Given the description of an element on the screen output the (x, y) to click on. 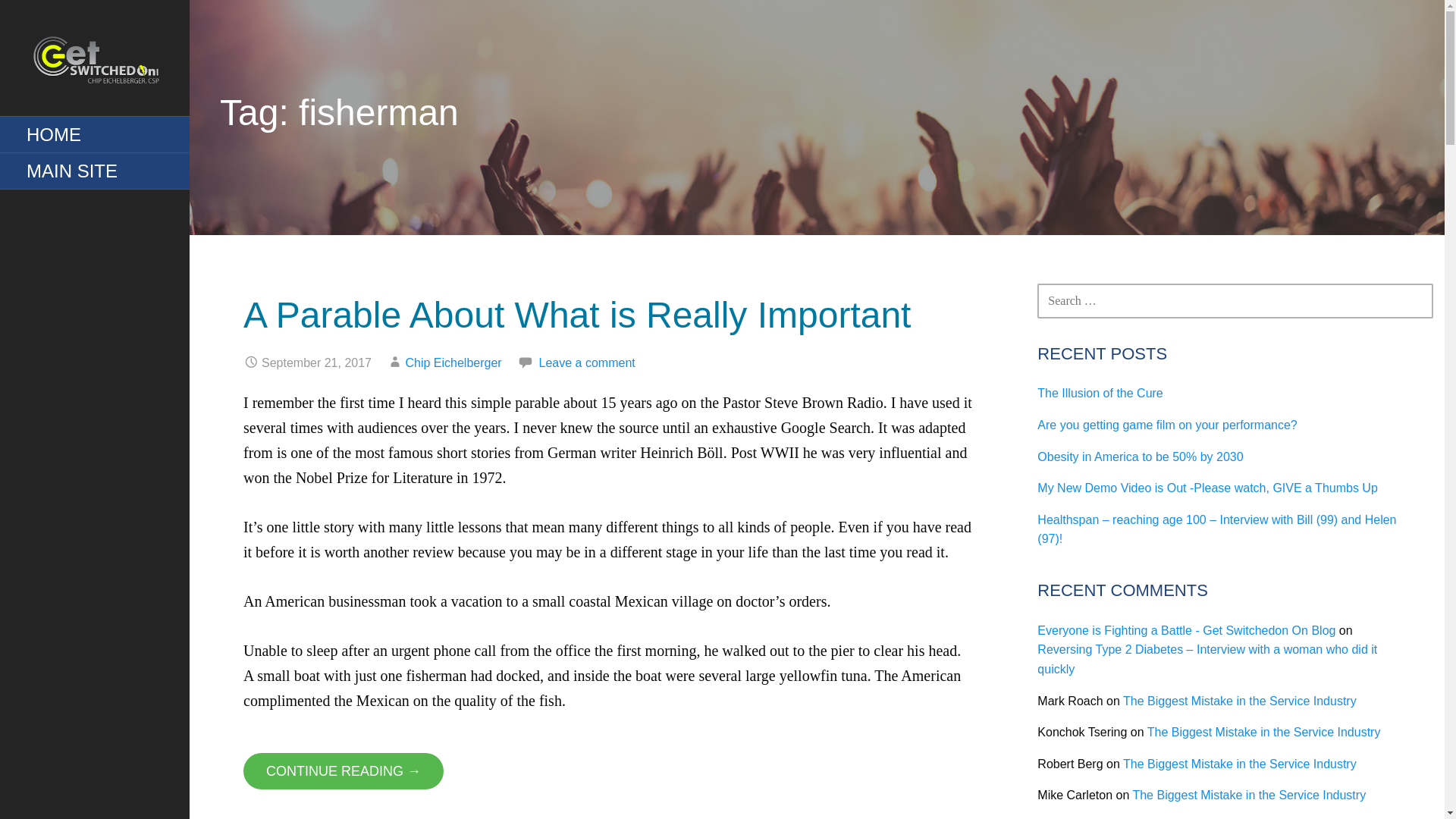
HOME (94, 135)
MAIN SITE (94, 171)
Are you getting game film on your performance? (1166, 424)
Everyone is Fighting a Battle - Get Switchedon On Blog (1185, 630)
My New Demo Video is Out -Please watch, GIVE a Thumbs Up (1206, 487)
Leave a comment (586, 362)
The Biggest Mistake in the Service Industry (1239, 763)
The Illusion of the Cure (1098, 392)
Search (50, 18)
Chip Eichelberger (452, 362)
